Given the description of an element on the screen output the (x, y) to click on. 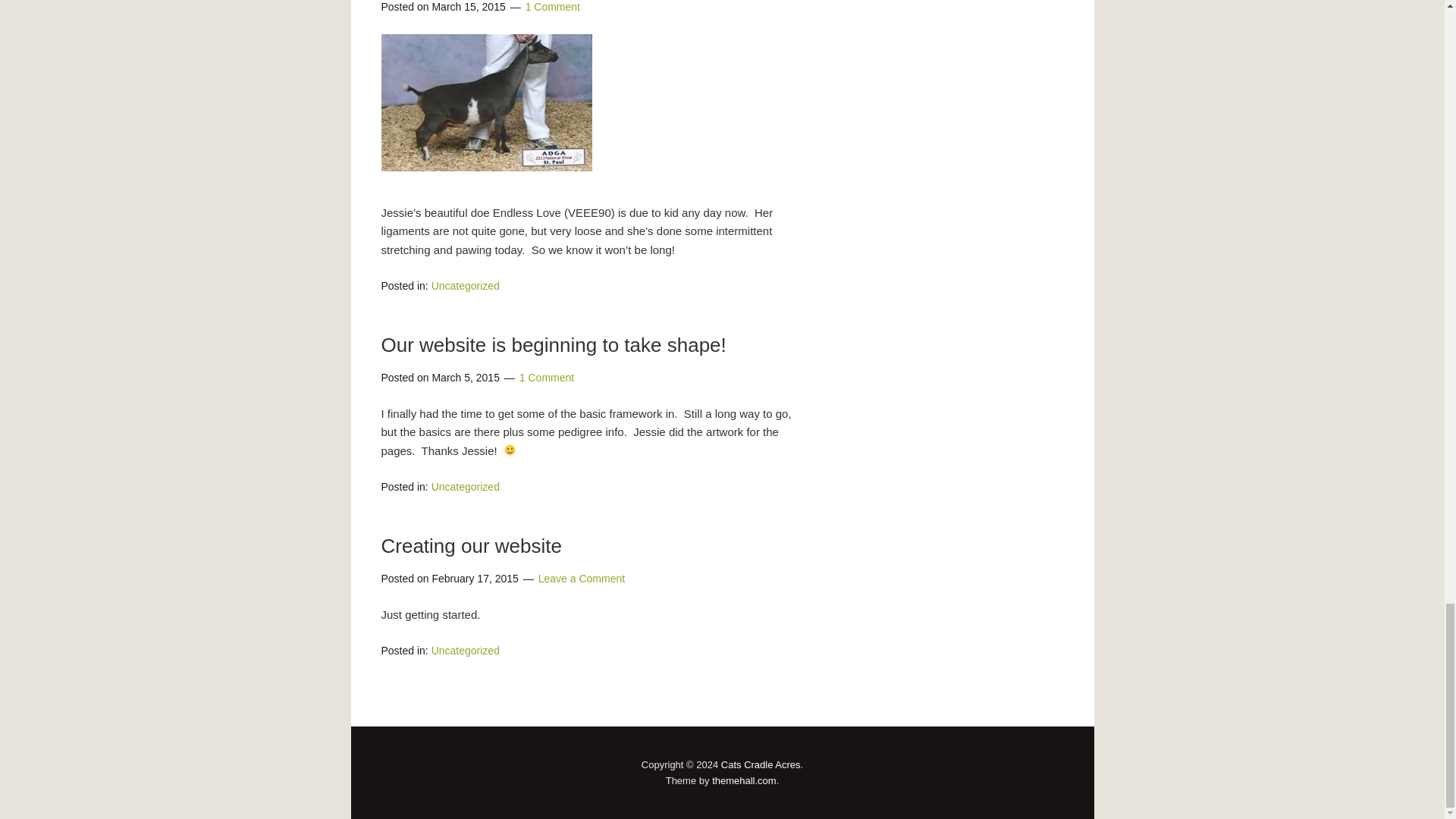
Leave a Comment (581, 578)
Thursday, March 5, 2015, 2:16 am (464, 377)
Sunday, March 15, 2015, 9:31 pm (467, 6)
Our website is beginning to take shape! (552, 344)
1 Comment (546, 377)
Uncategorized (464, 486)
1 Comment (552, 6)
Creating our website (470, 545)
Uncategorized (464, 285)
themehall.com (743, 780)
Tuesday, February 17, 2015, 9:09 pm (474, 578)
Uncategorized (464, 650)
